Given the description of an element on the screen output the (x, y) to click on. 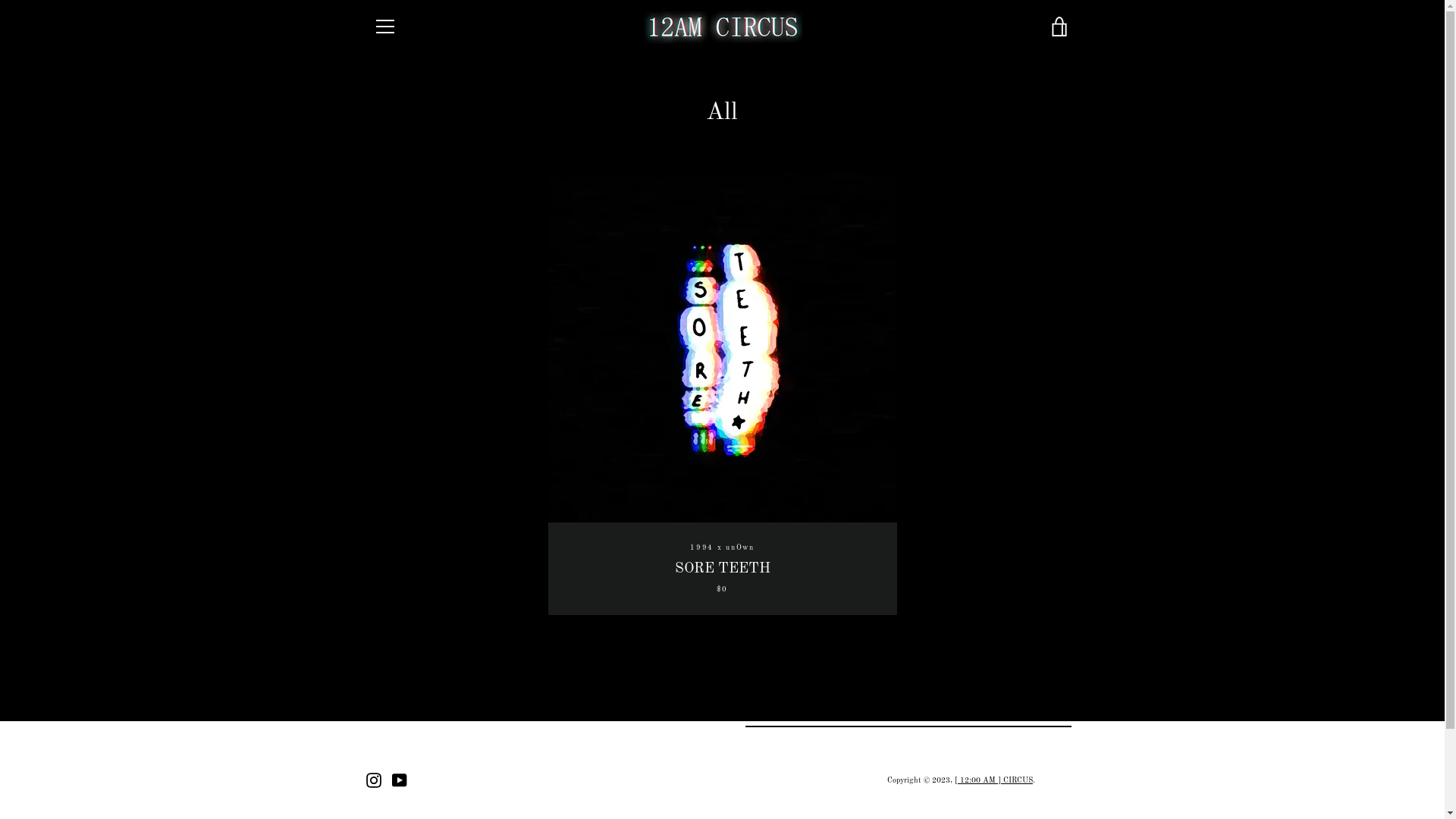
EXPAND NAVIGATION Element type: text (384, 26)
VIEW BAG Element type: text (1059, 26)
x SIGN x Element type: text (1025, 706)
[ 12:00 AM ] CIRCUS Element type: text (993, 780)
1994 x unOwn
SORE TEETH
$0 Element type: text (721, 394)
YouTube Element type: text (398, 779)
Skip to content Element type: text (0, 0)
Instagram Element type: text (372, 779)
